Given the description of an element on the screen output the (x, y) to click on. 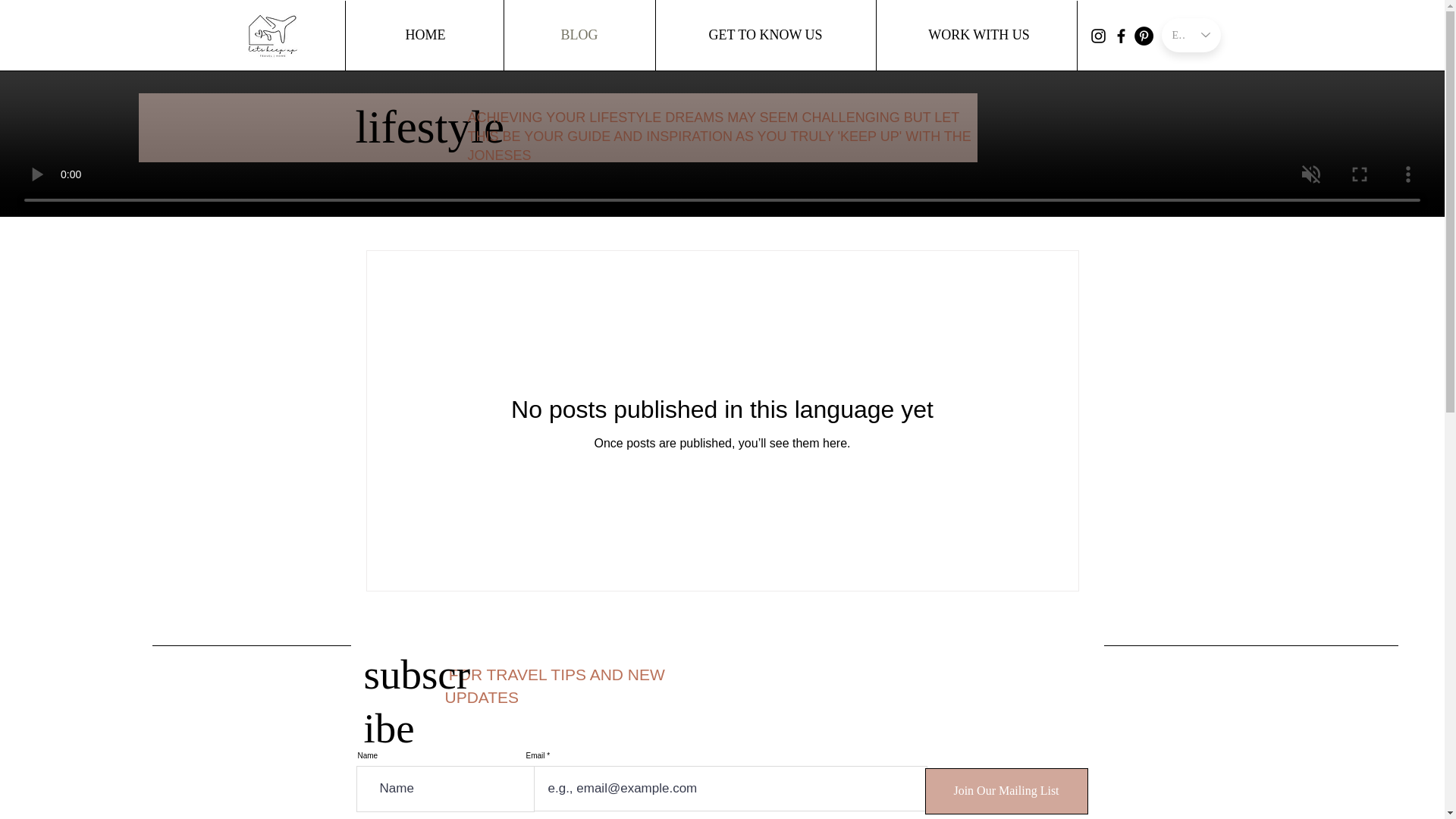
GET TO KNOW US (765, 35)
Join Our Mailing List (1005, 791)
BLOG (579, 35)
HOME (424, 35)
WORK WITH US (978, 35)
